Given the description of an element on the screen output the (x, y) to click on. 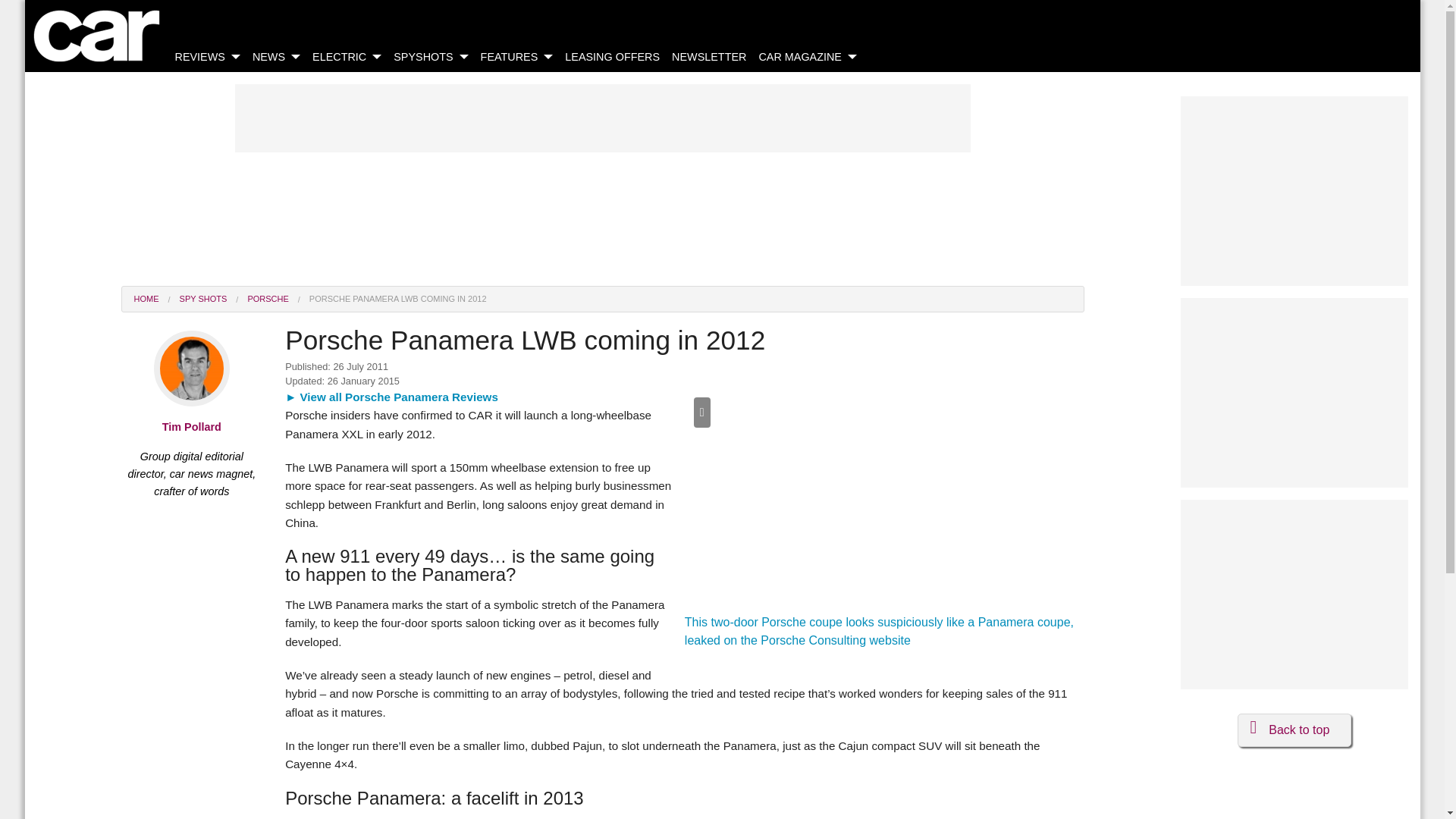
View all Porsche Panamera Reviews (391, 396)
REVIEWS (207, 58)
Home (96, 36)
